Given the description of an element on the screen output the (x, y) to click on. 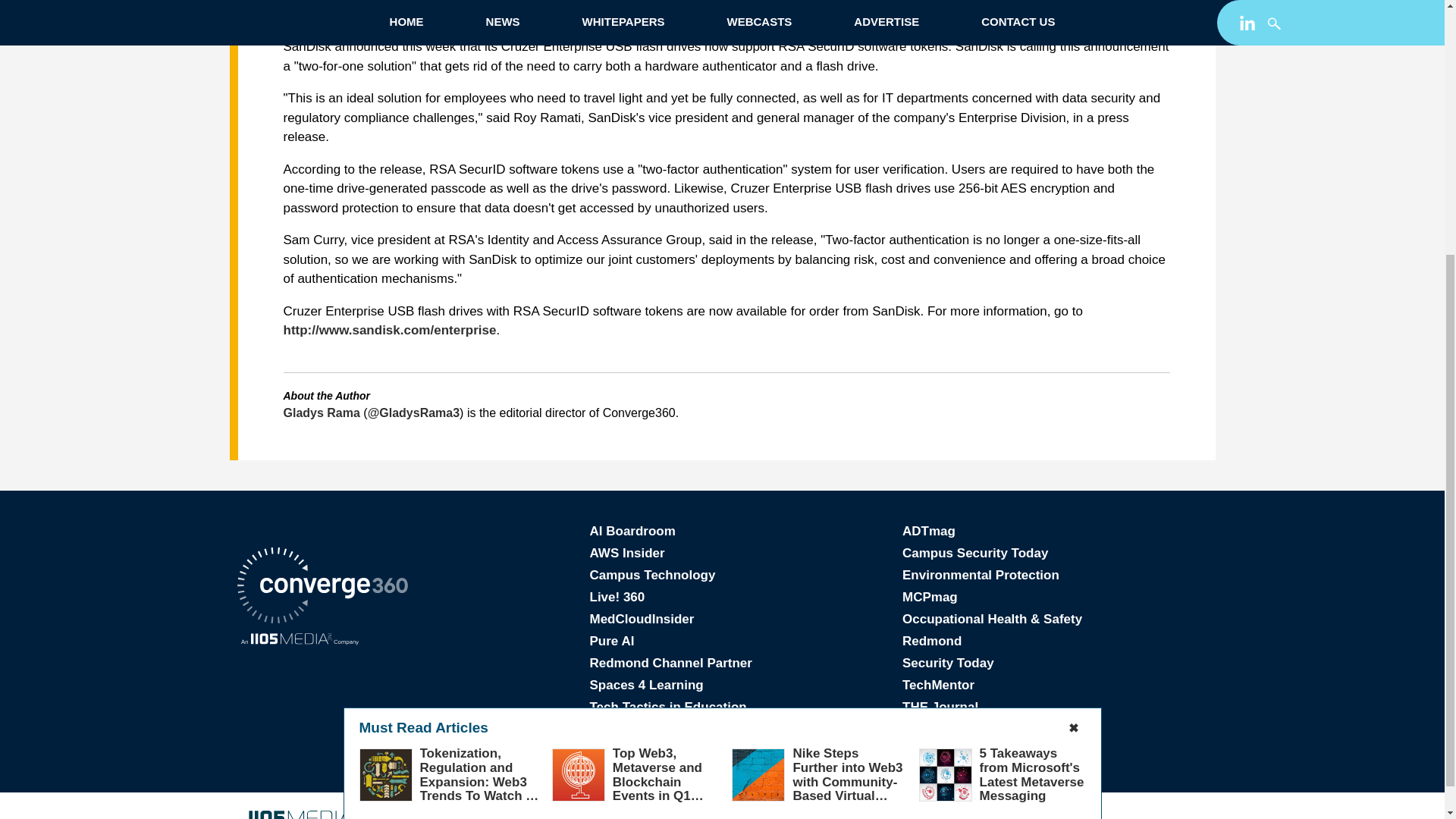
Environmental Protection (980, 575)
AI Boardroom (632, 531)
Gladys Rama (321, 412)
Campus Security Today (975, 553)
Pure AI (611, 640)
MCPmag (930, 596)
Campus Technology (652, 575)
5 Takeaways from Microsoft's Latest Metaverse Messaging (1031, 399)
